Given the description of an element on the screen output the (x, y) to click on. 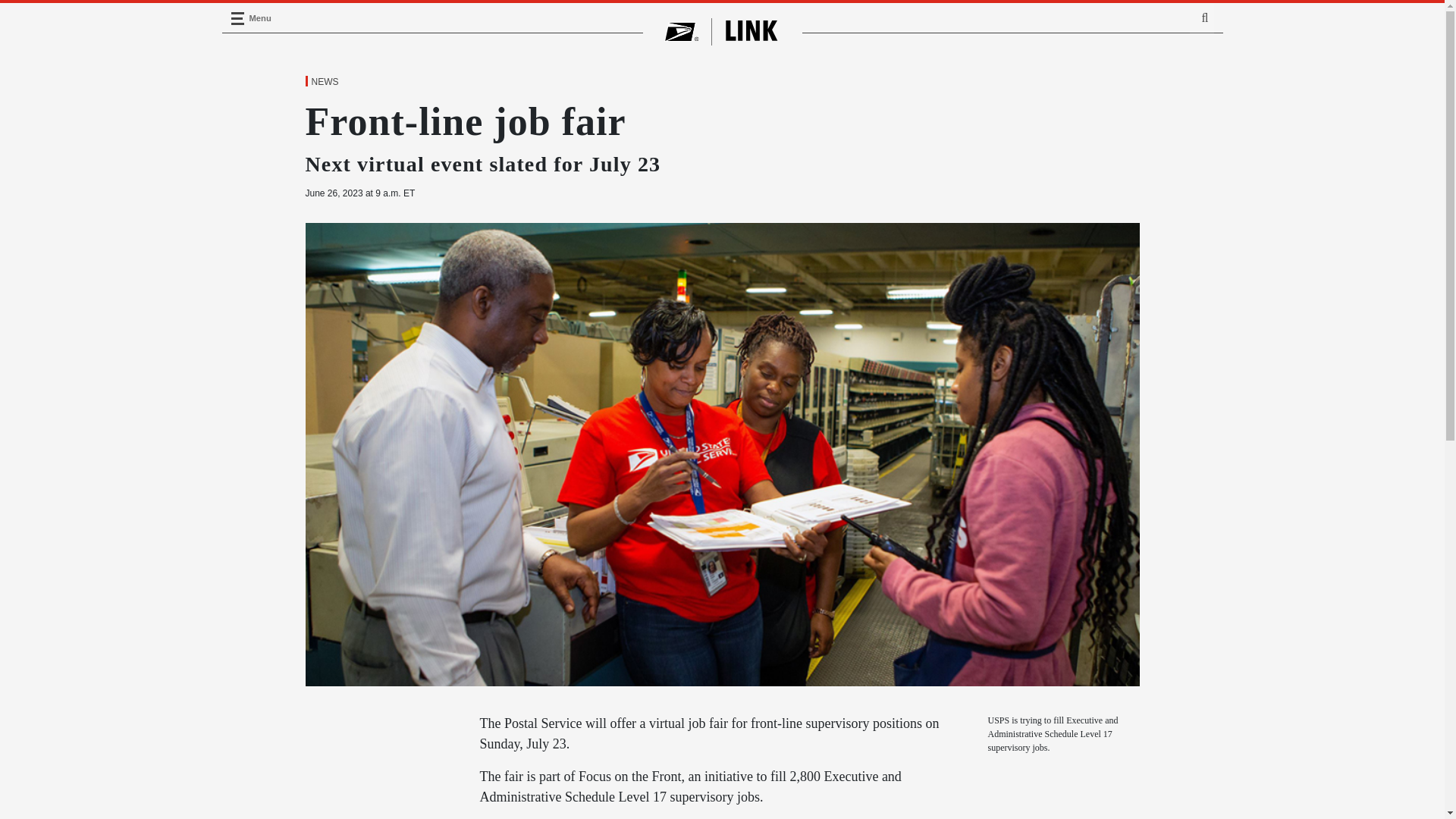
Menu (237, 18)
NEWS (323, 81)
